Given the description of an element on the screen output the (x, y) to click on. 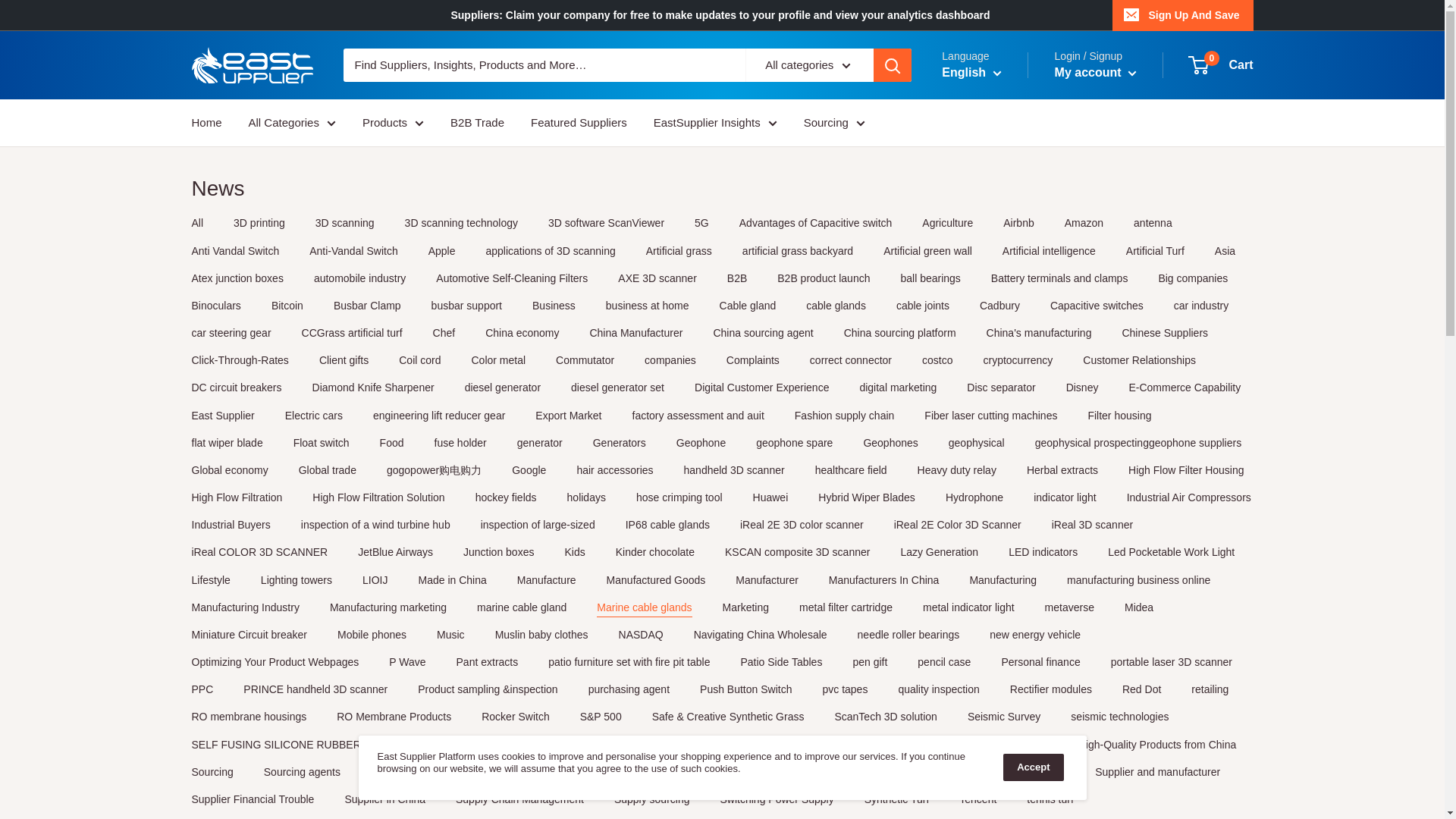
Show articles tagged 3D software ScanViewer (605, 223)
Show articles tagged artificial grass backyard (797, 250)
Show articles tagged Artificial Turf (1155, 250)
Show articles tagged 3D scanning (344, 223)
Show articles tagged 5G (701, 223)
Show articles tagged Apple (441, 250)
Show articles tagged Amazon (1083, 223)
Show articles tagged Artificial green wall (927, 250)
Show articles tagged Anti-Vandal Switch (352, 250)
Show articles tagged applications of 3D scanning (549, 250)
